Given the description of an element on the screen output the (x, y) to click on. 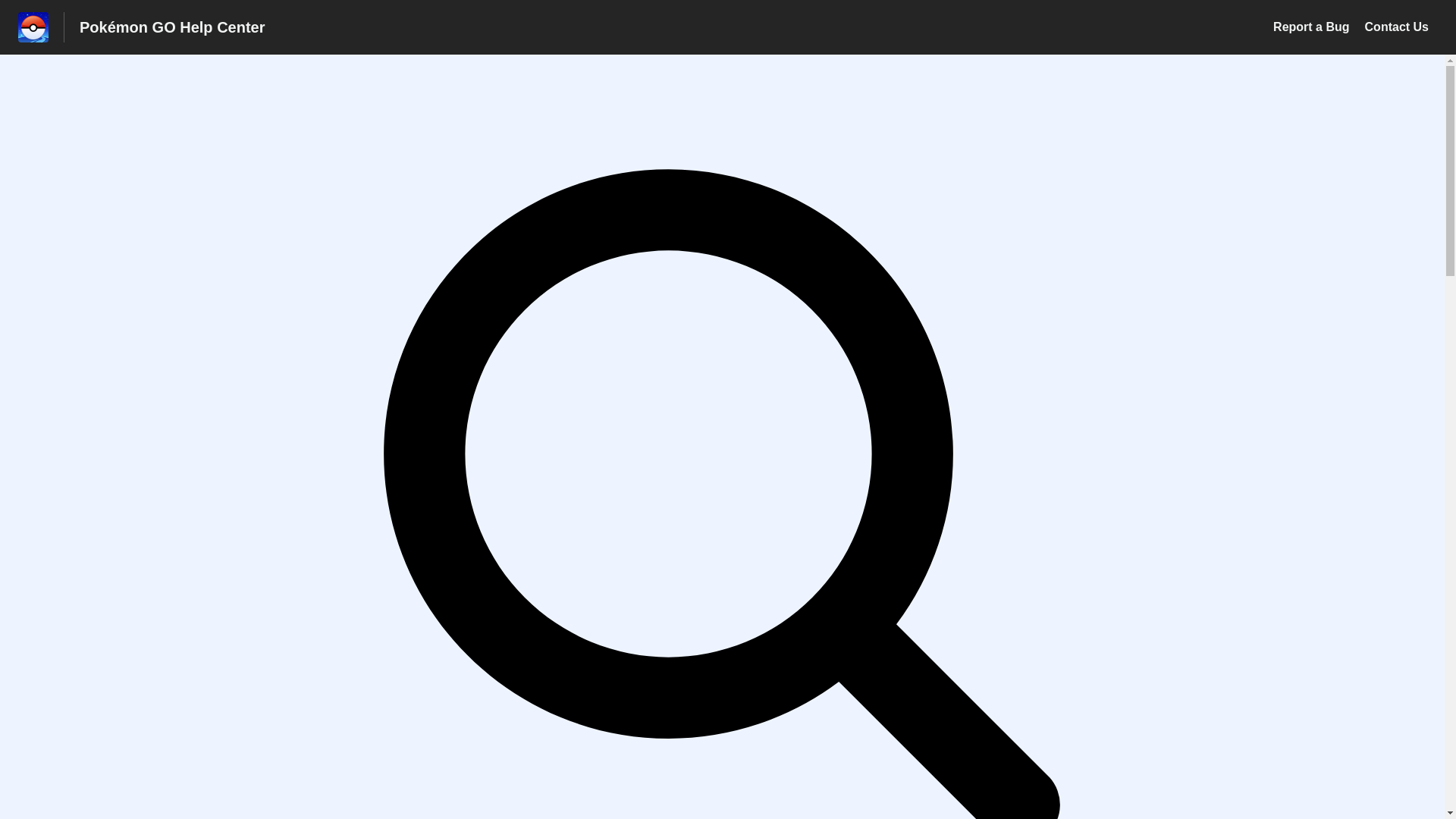
Report a Bug (1310, 27)
Contact Us (1396, 27)
